Given the description of an element on the screen output the (x, y) to click on. 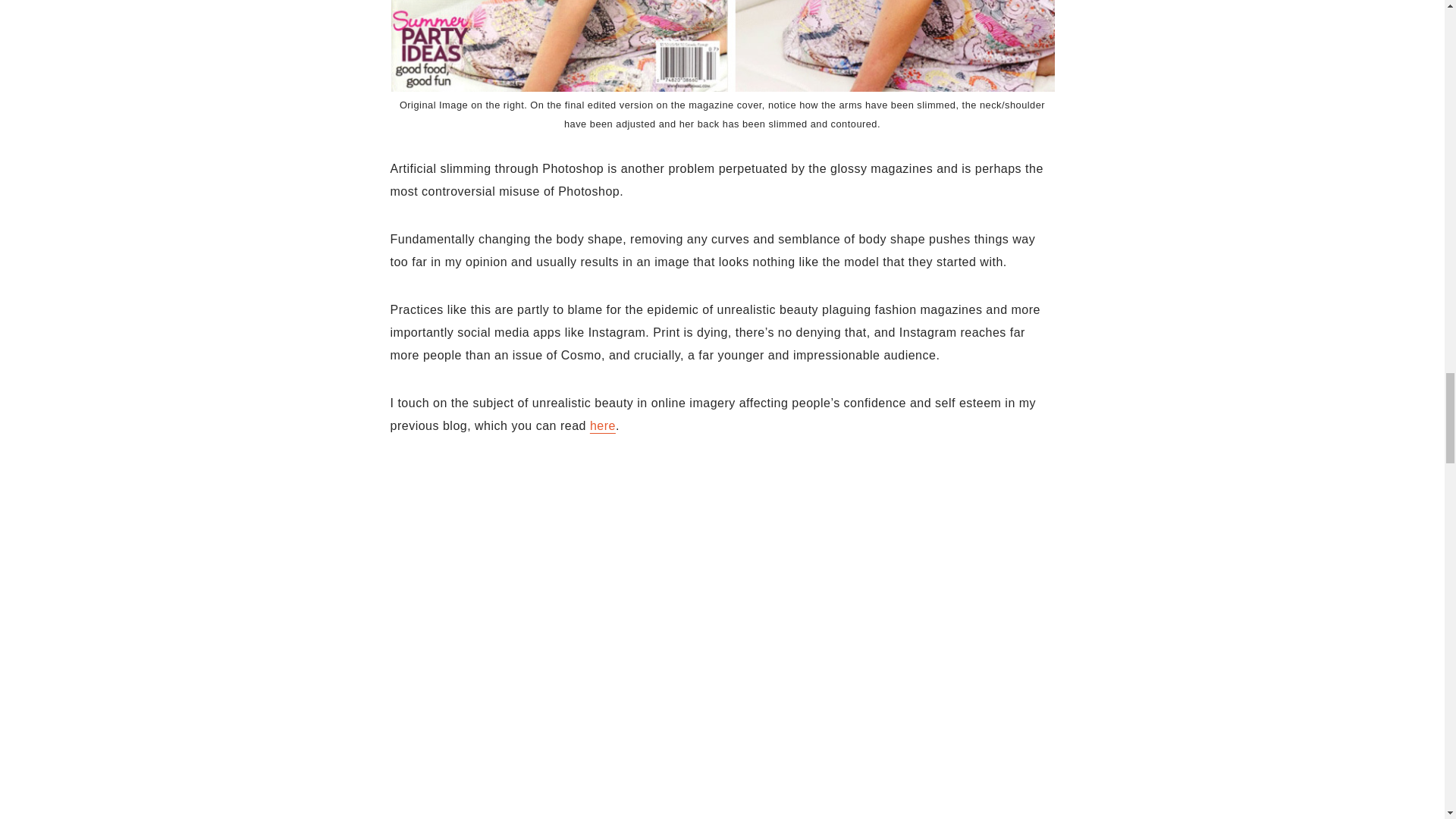
here (602, 425)
